Given the description of an element on the screen output the (x, y) to click on. 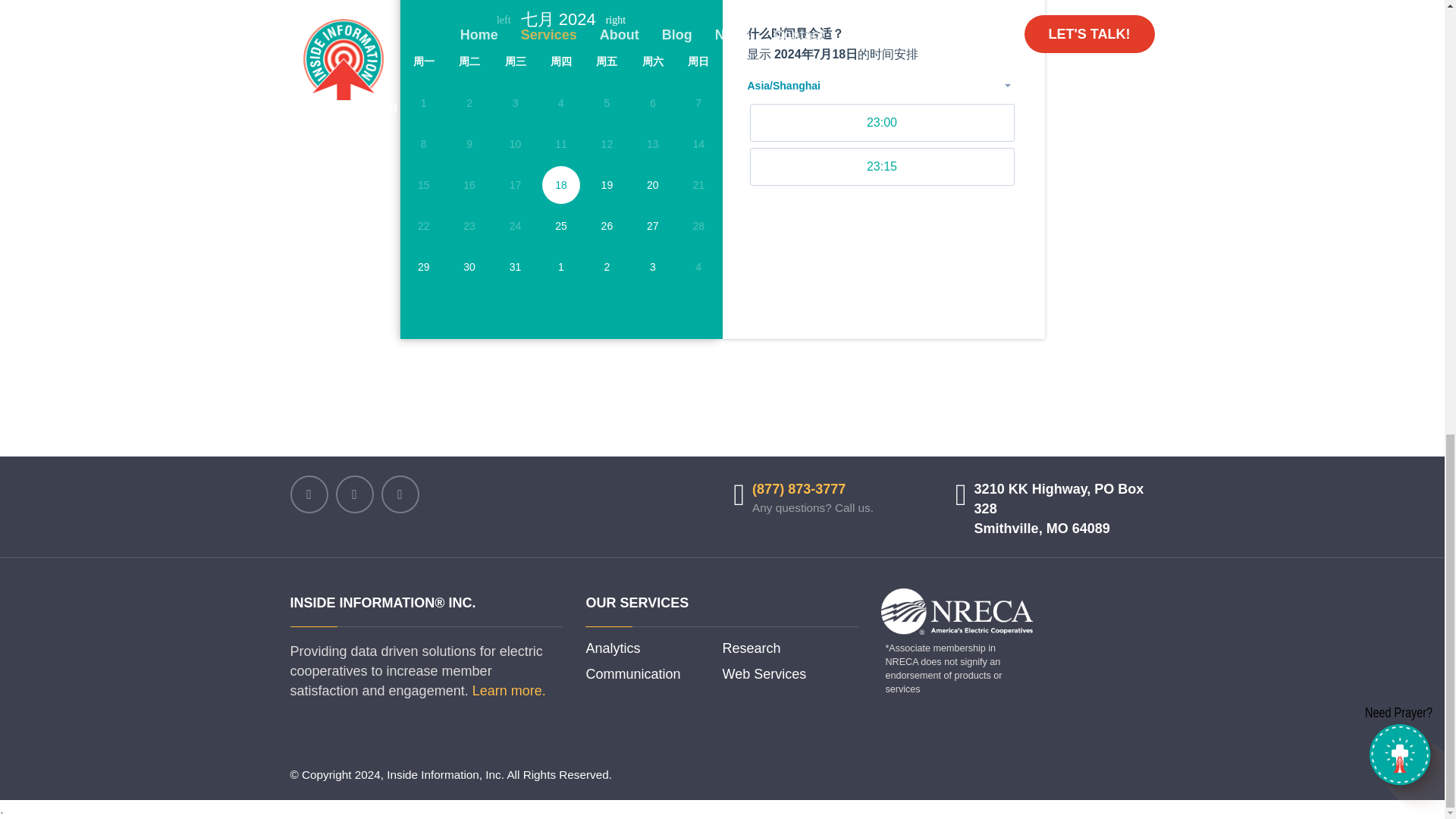
linkedin (353, 494)
youtube (399, 494)
Communication (632, 674)
Web Services (764, 674)
facebook (308, 494)
Learn more. (508, 690)
Analytics (612, 649)
Research (751, 649)
